Given the description of an element on the screen output the (x, y) to click on. 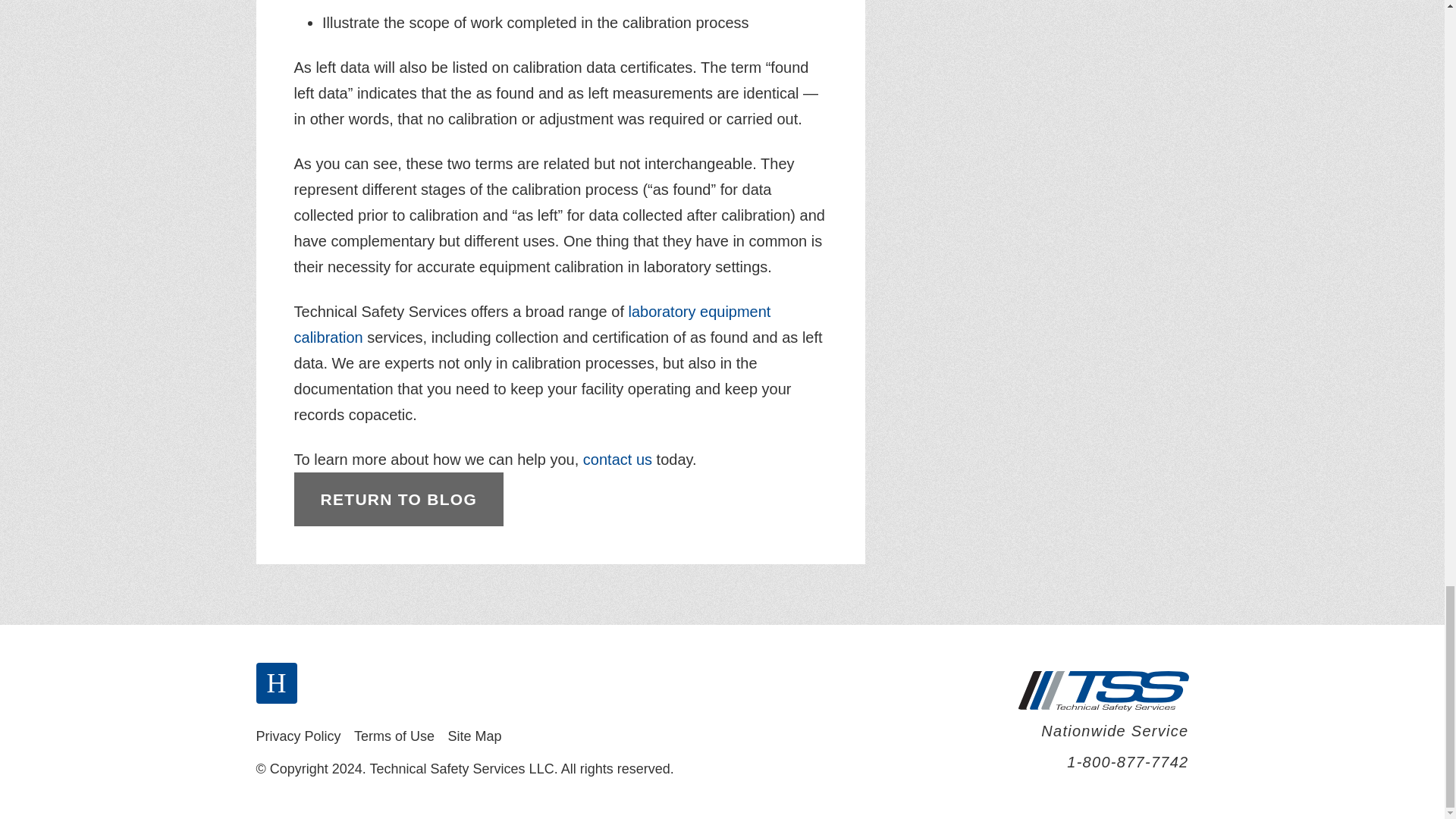
Technical Safety Services LLC. (1103, 690)
